Given the description of an element on the screen output the (x, y) to click on. 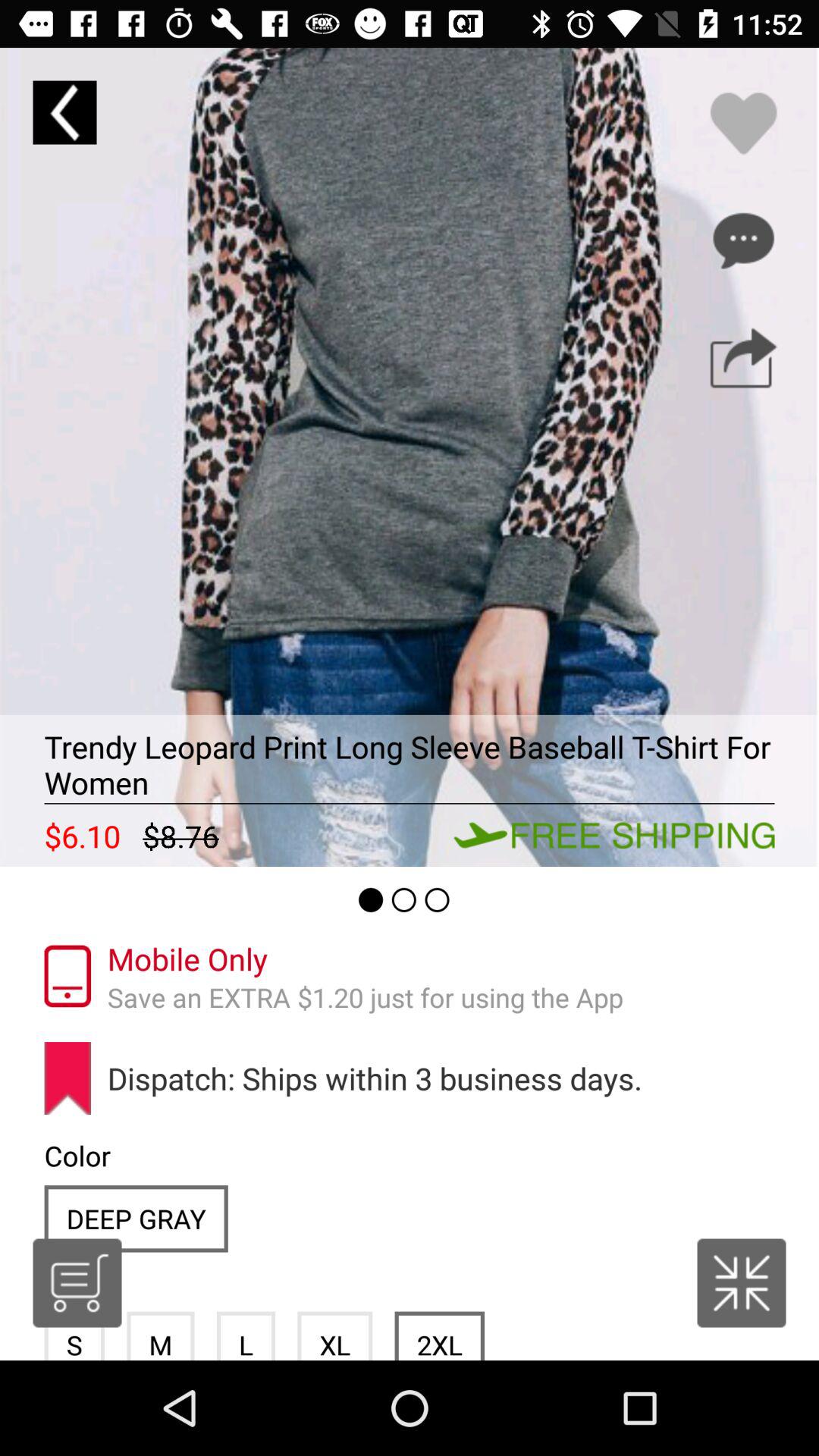
go to previous (64, 112)
